Given the description of an element on the screen output the (x, y) to click on. 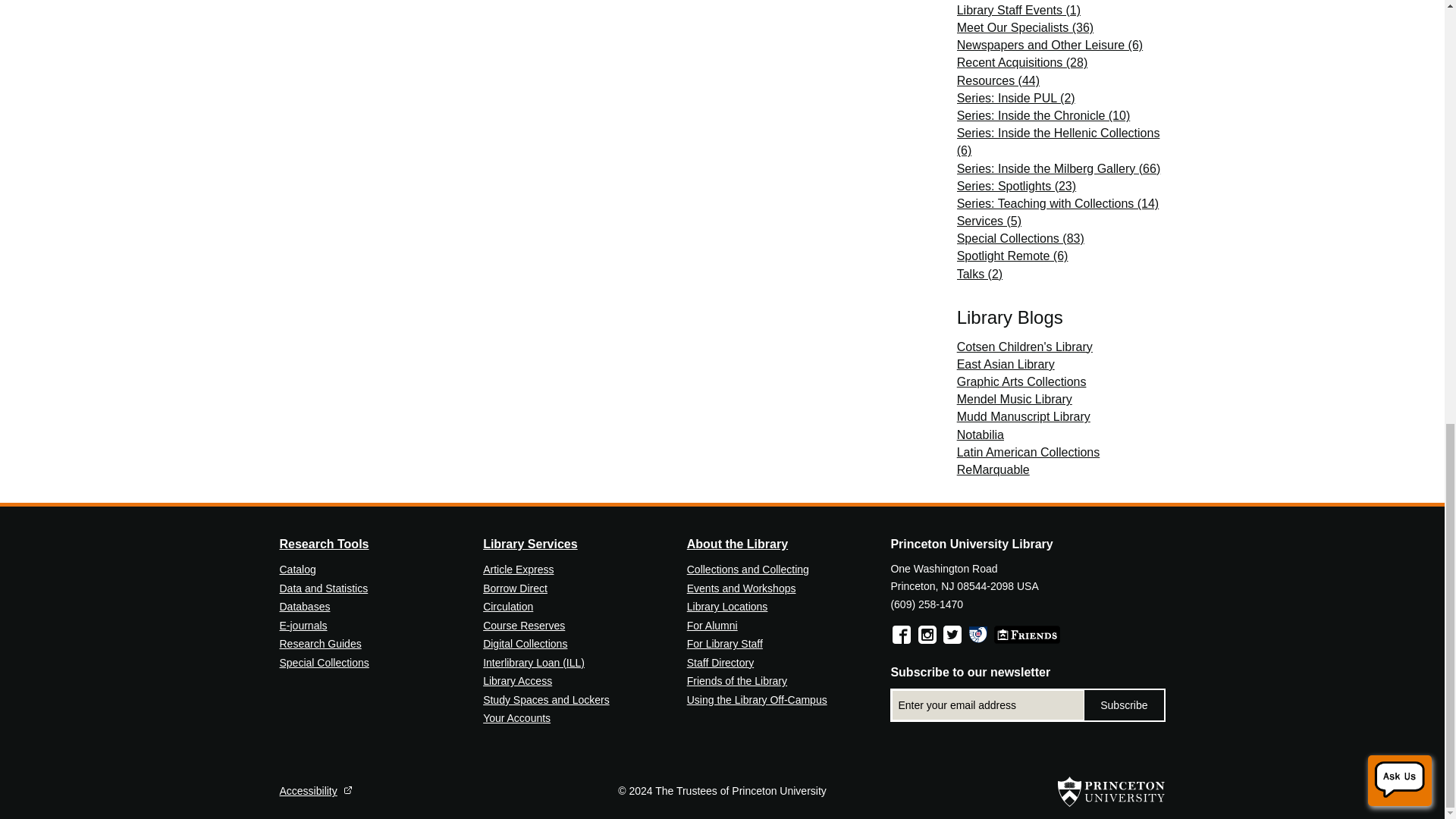
Use our Interlibrary Loan and Article Express Services (518, 569)
Subscribe (1123, 705)
Princeton University (1111, 791)
Like us on Facebook (901, 634)
Mudd Manuscript Library Blog (1023, 416)
Follow us on Twitter (951, 634)
Government Documents Depository (978, 634)
Friends of the Library (1026, 634)
Follow us on Instagram (927, 634)
Interlibrary Loan Services, Article Express (534, 662)
